Given the description of an element on the screen output the (x, y) to click on. 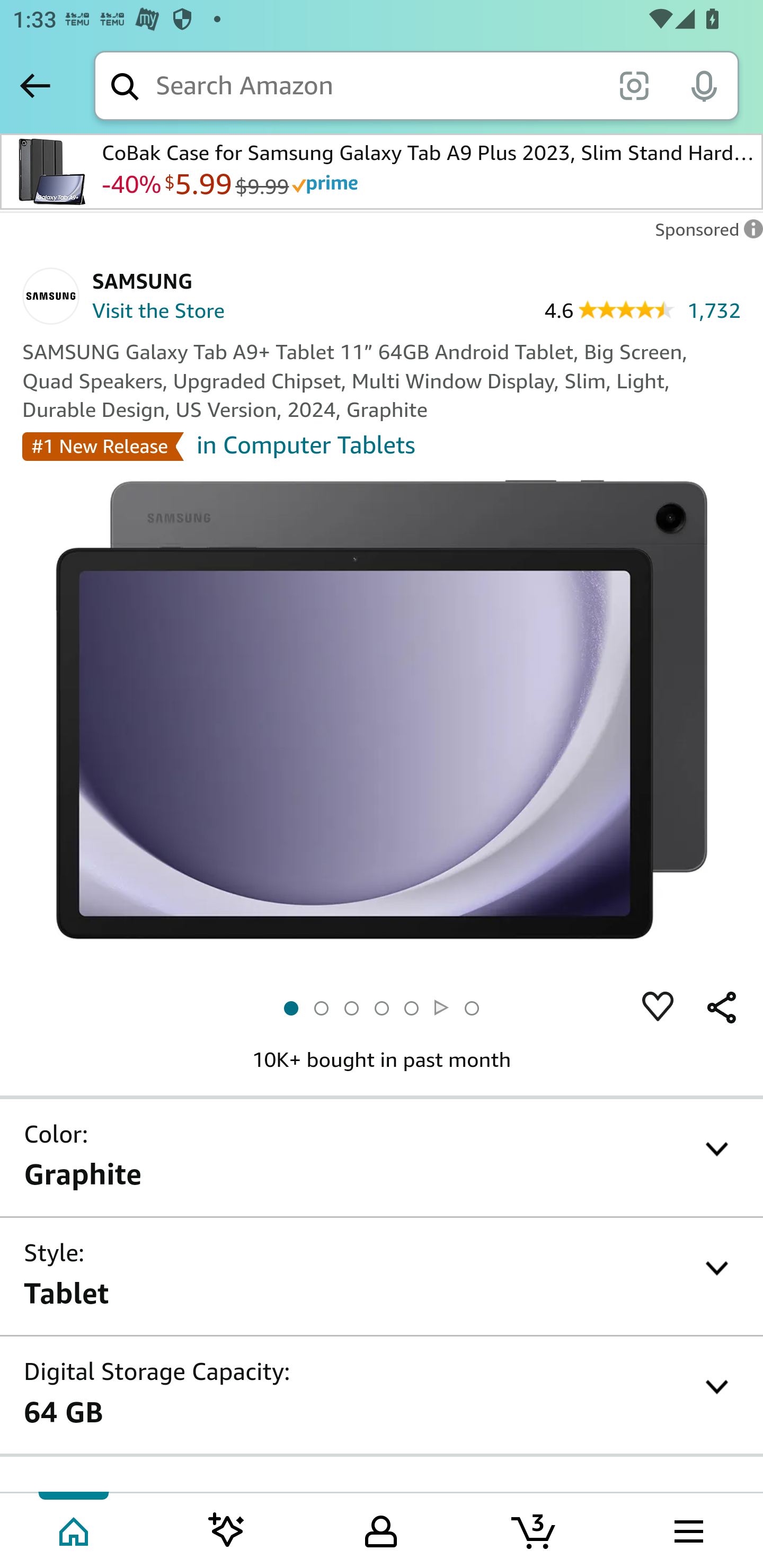
Back (35, 85)
scan it (633, 85)
Leave feedback on Sponsored ad Sponsored  (703, 234)
4.6 1,732 4.6  1,732 (641, 309)
Visit the Store, SAMSUNG (147, 312)
Heart to save an item to your default list (657, 1007)
Home Tab 1 of 5 (75, 1529)
Inspire feed Tab 2 of 5 (227, 1529)
Your Amazon.com Tab 3 of 5 (380, 1529)
Cart 3 items Tab 4 of 5 3 (534, 1529)
Browse menu Tab 5 of 5 (687, 1529)
